Given the description of an element on the screen output the (x, y) to click on. 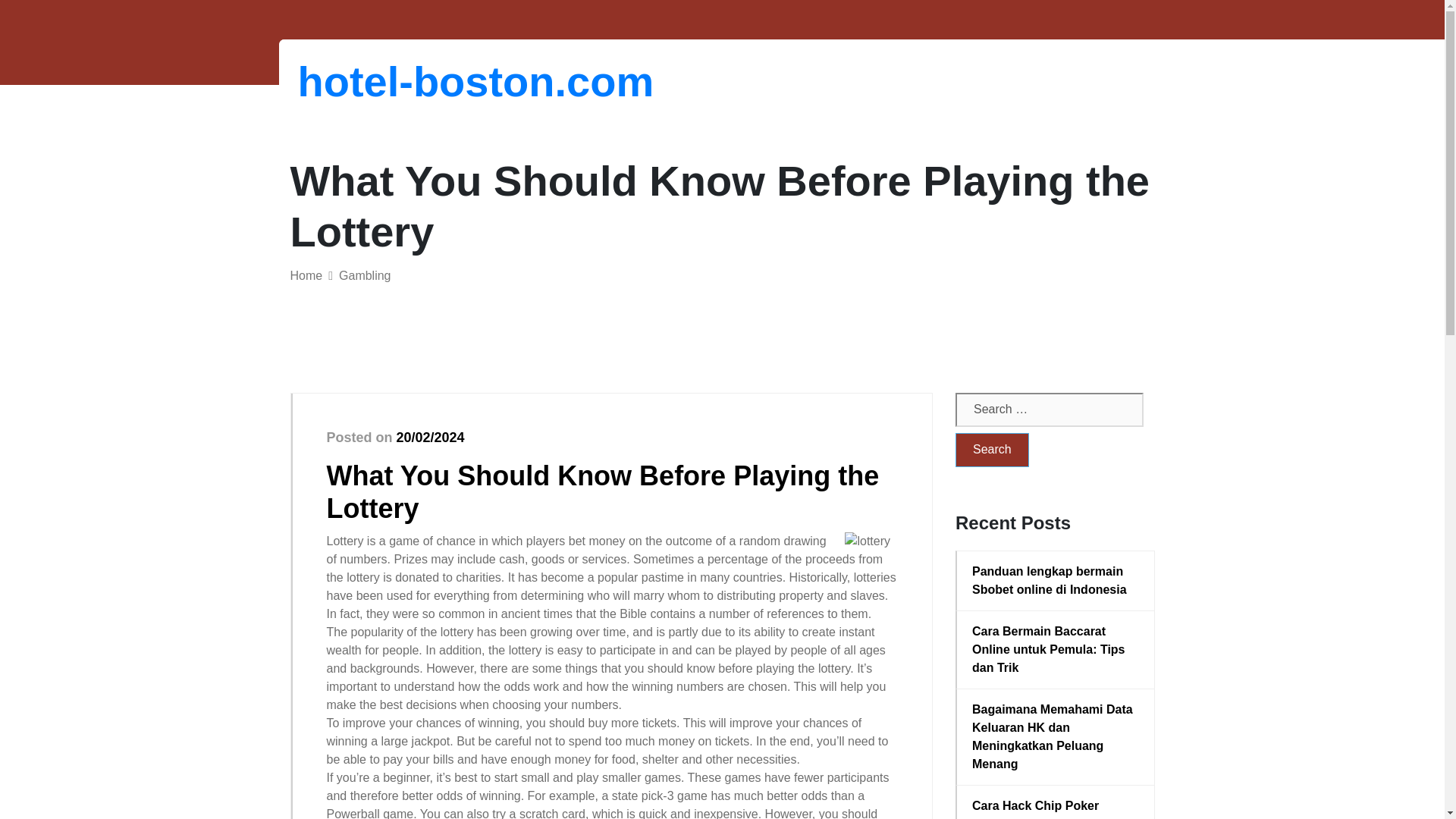
Search (992, 449)
Cara Hack Chip Poker Online Secara Efektif (1055, 807)
What You Should Know Before Playing the Lottery (602, 492)
Search (992, 449)
Gambling (364, 275)
Panduan lengkap bermain Sbobet online di Indonesia (1055, 580)
Search (992, 449)
hotel-boston.com (376, 81)
Home (305, 275)
Cara Bermain Baccarat Online untuk Pemula: Tips dan Trik (1055, 649)
